Given the description of an element on the screen output the (x, y) to click on. 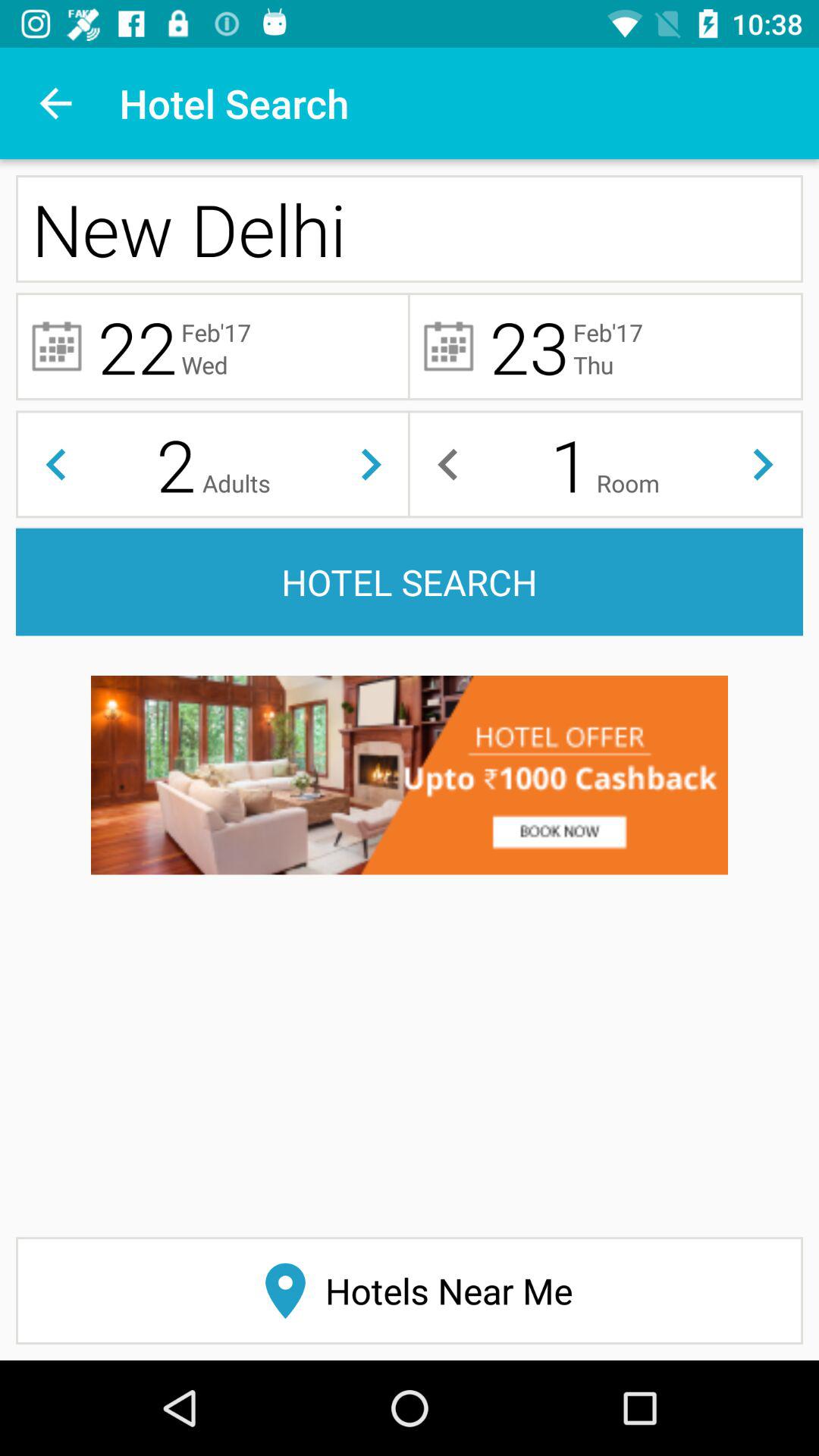
toggle number down (55, 464)
